Given the description of an element on the screen output the (x, y) to click on. 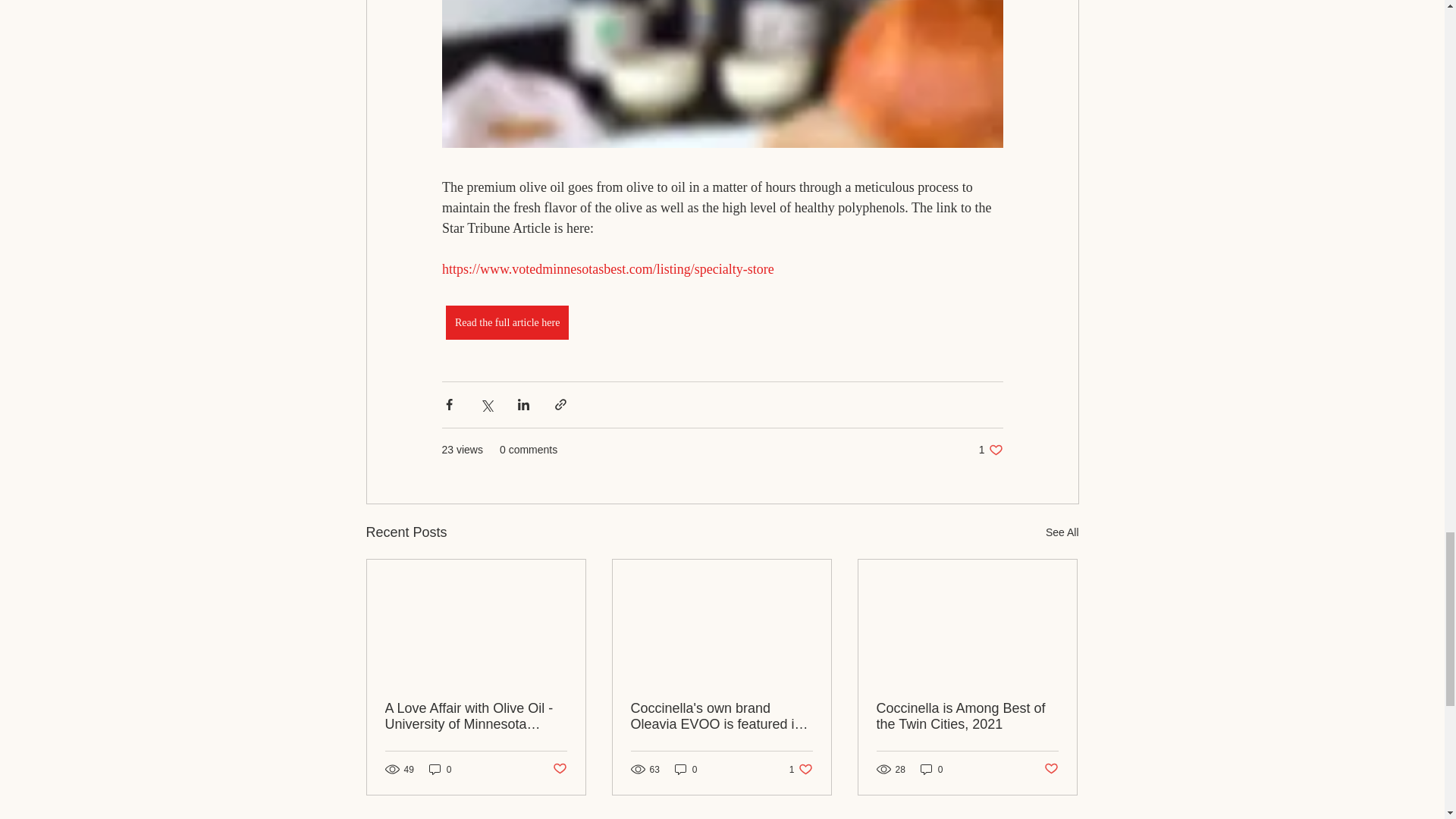
Post not marked as liked (558, 769)
0 (685, 769)
Coccinella is Among Best of the Twin Cities, 2021 (967, 716)
Read the full article here (507, 322)
See All (800, 769)
0 (1061, 532)
